Given the description of an element on the screen output the (x, y) to click on. 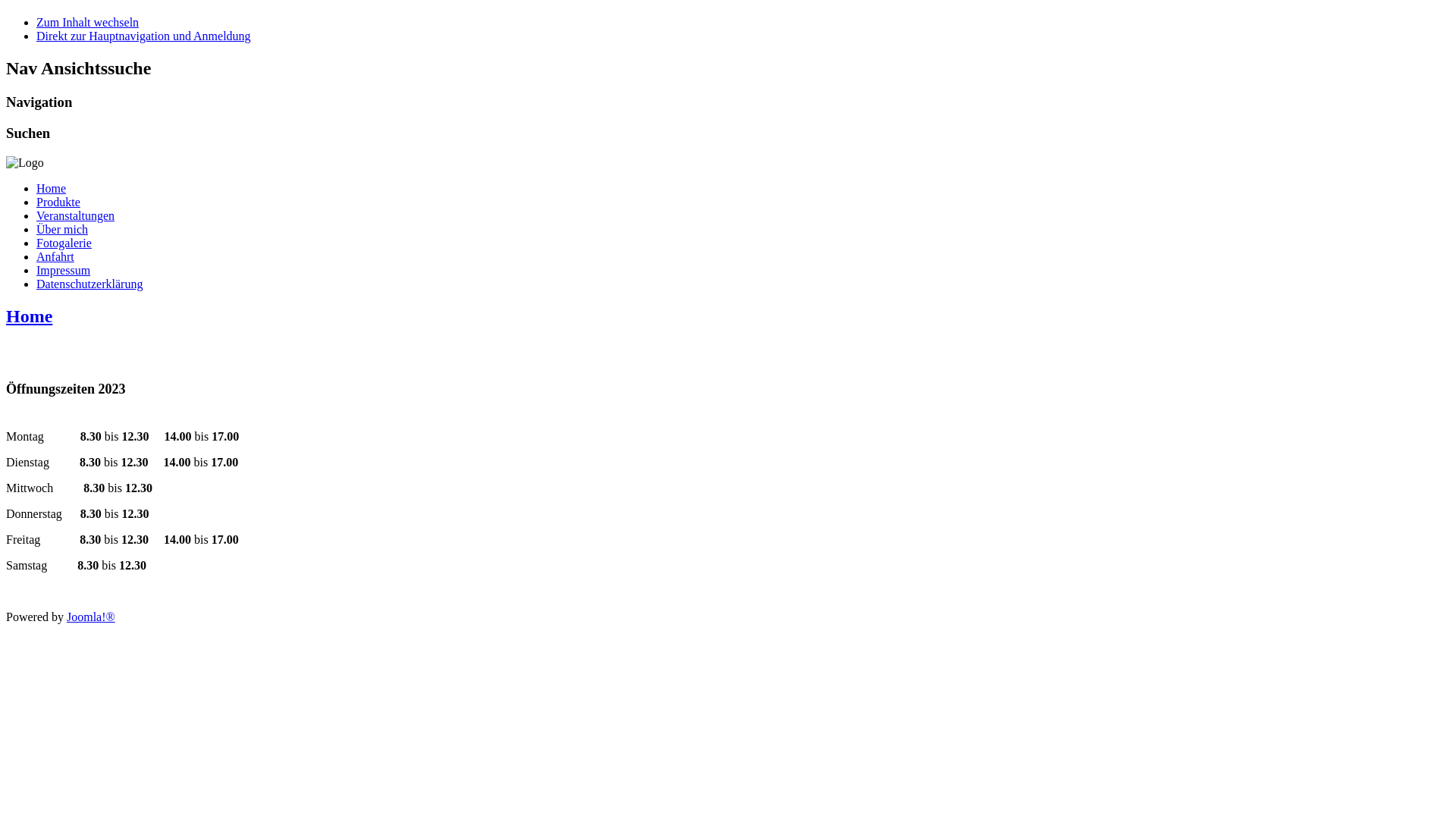
Direkt zur Hauptnavigation und Anmeldung Element type: text (143, 35)
Zum Inhalt wechseln Element type: text (87, 21)
Impressum Element type: text (63, 269)
Home Element type: text (50, 188)
Produkte Element type: text (58, 201)
Home Element type: text (29, 316)
Veranstaltungen Element type: text (75, 215)
Anfahrt Element type: text (55, 256)
Fotogalerie Element type: text (63, 242)
